Given the description of an element on the screen output the (x, y) to click on. 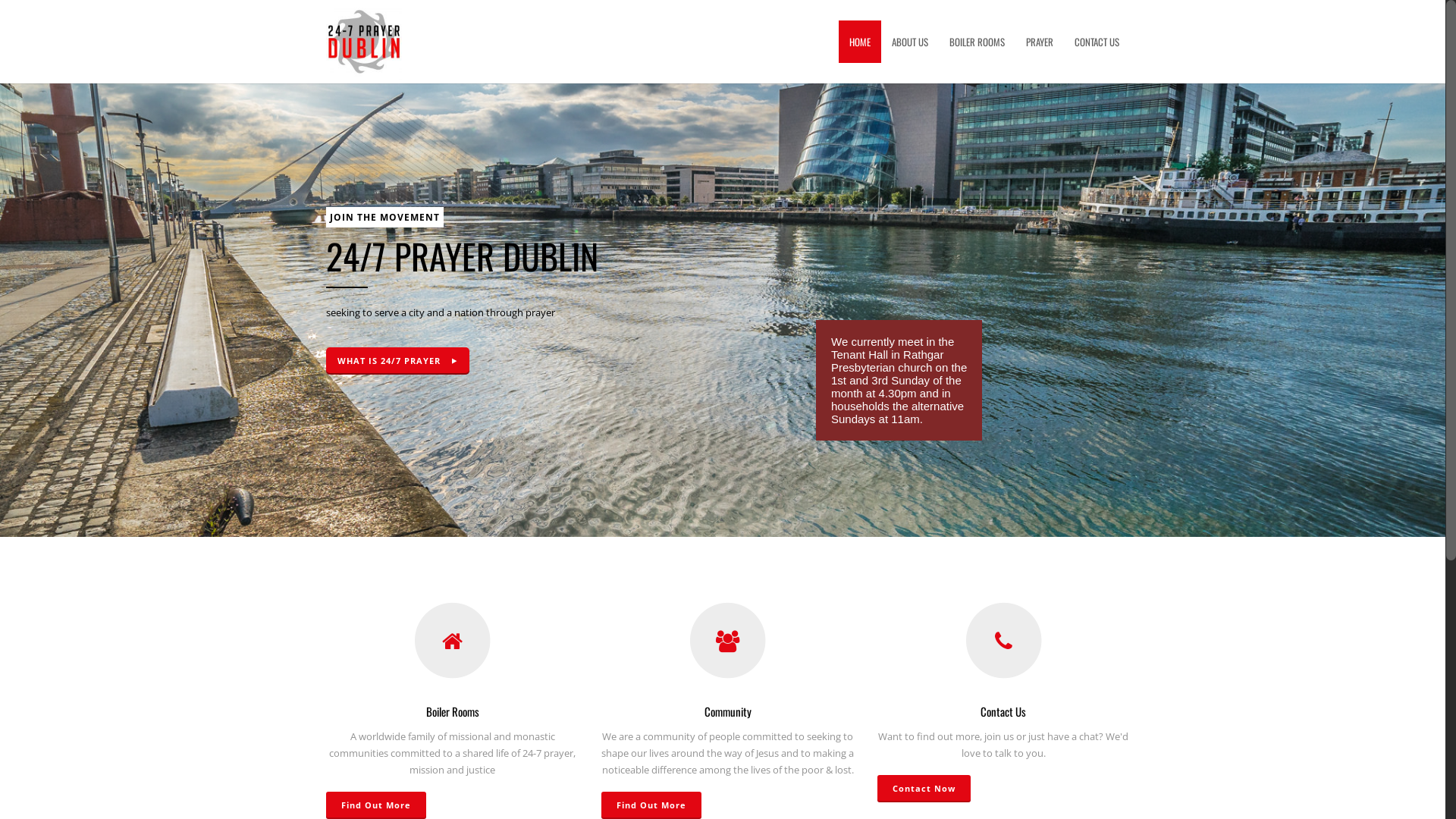
Contact Now Element type: text (923, 788)
ABOUT US Element type: text (909, 41)
PRAYER Element type: text (1039, 41)
BOILER ROOMS Element type: text (976, 41)
WHAT IS 24/7 PRAYER Element type: text (397, 360)
CONTACT US Element type: text (1096, 41)
HOME Element type: text (859, 41)
